Given the description of an element on the screen output the (x, y) to click on. 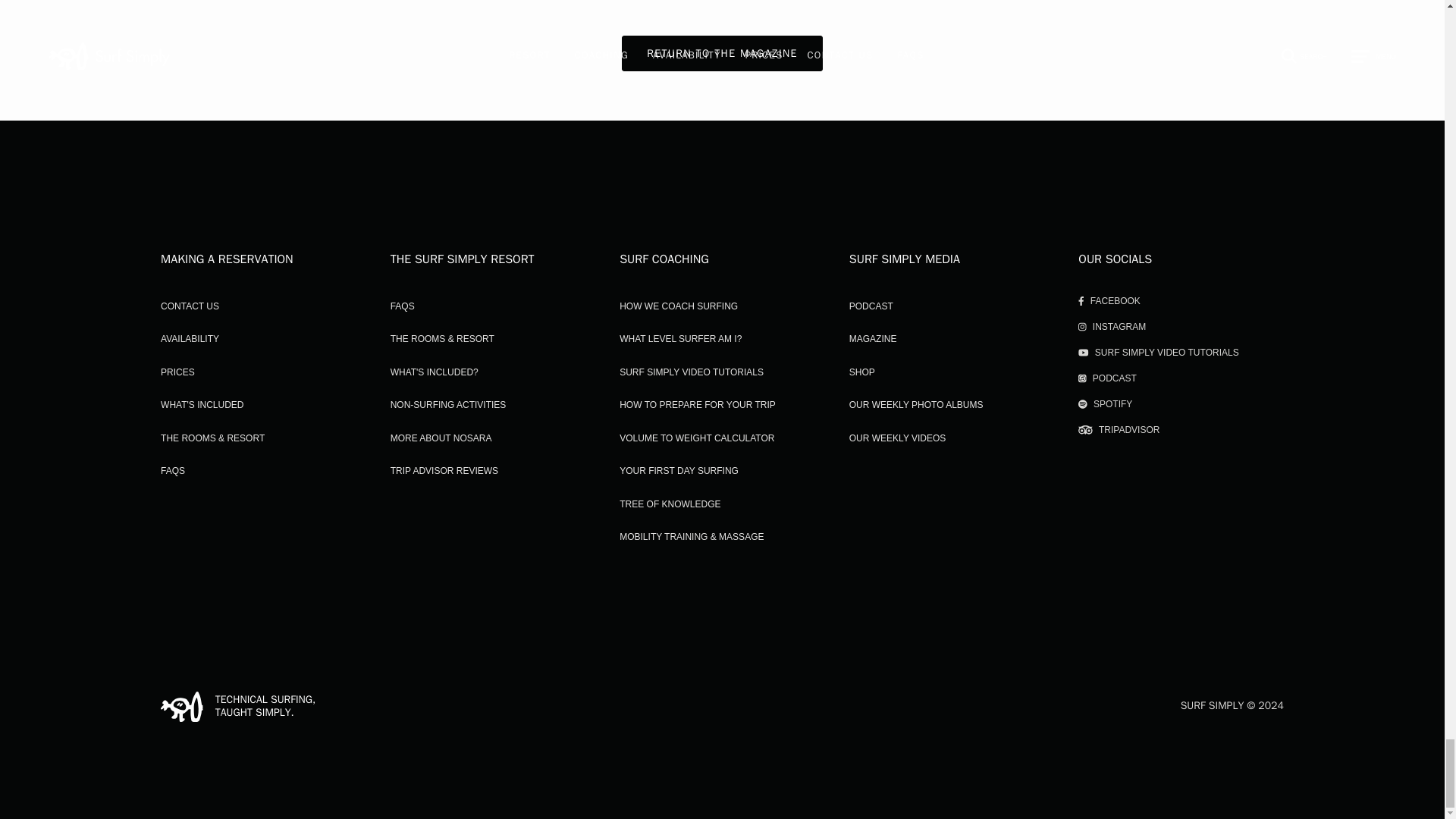
VOLUME TO WEIGHT CALCULATOR (697, 438)
RETURN TO THE MAGAZINE (721, 53)
NON-SURFING ACTIVITIES (448, 404)
PRICES (177, 371)
TREE OF KNOWLEDGE (670, 503)
CONTACT US (189, 306)
SURF SIMPLY VIDEO TUTORIALS (691, 371)
MORE ABOUT NOSARA (441, 438)
Surf Simply (181, 706)
WHAT'S INCLUDED? (434, 371)
WHAT'S INCLUDED (201, 404)
WHAT LEVEL SURFER AM I? (680, 338)
AVAILABILITY (189, 338)
HOW TO PREPARE FOR YOUR TRIP (698, 404)
PODCAST (870, 306)
